Given the description of an element on the screen output the (x, y) to click on. 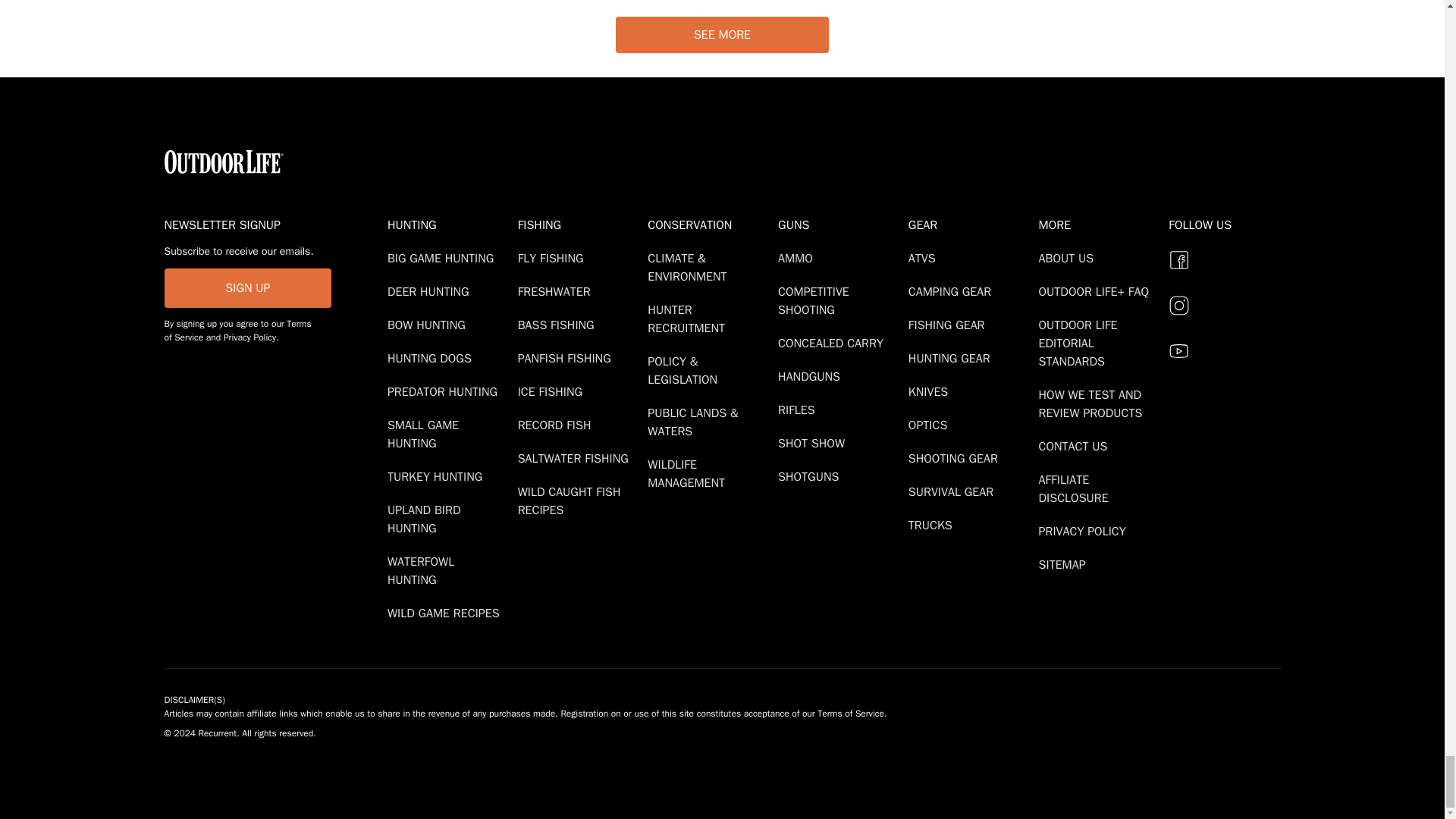
Hunting (449, 225)
Conservation (709, 225)
Deer Hunting (431, 291)
Fly Fishing (553, 258)
Big Game Hunting (443, 258)
Fishing (580, 225)
